Given the description of an element on the screen output the (x, y) to click on. 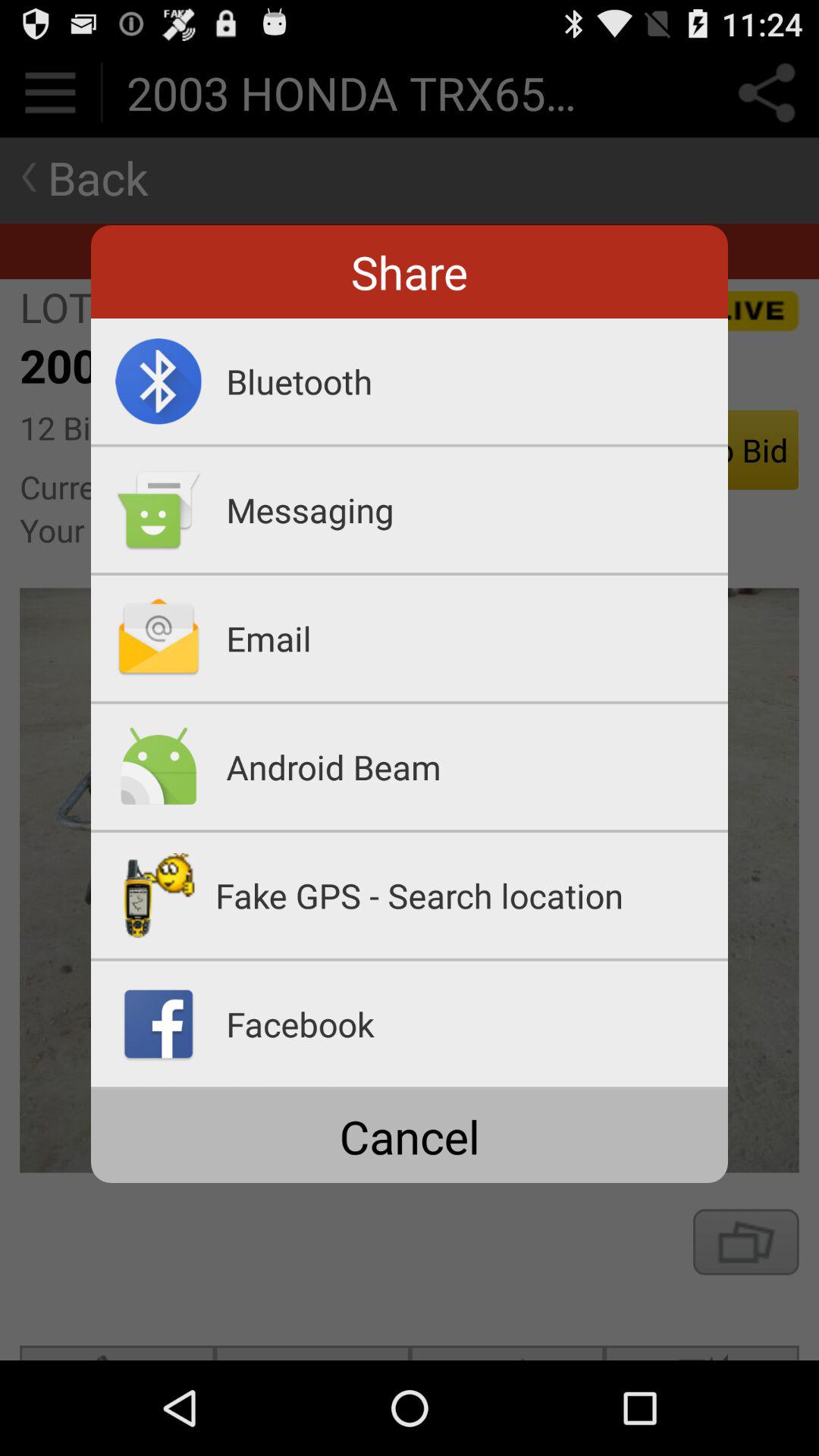
press messaging icon (477, 509)
